Given the description of an element on the screen output the (x, y) to click on. 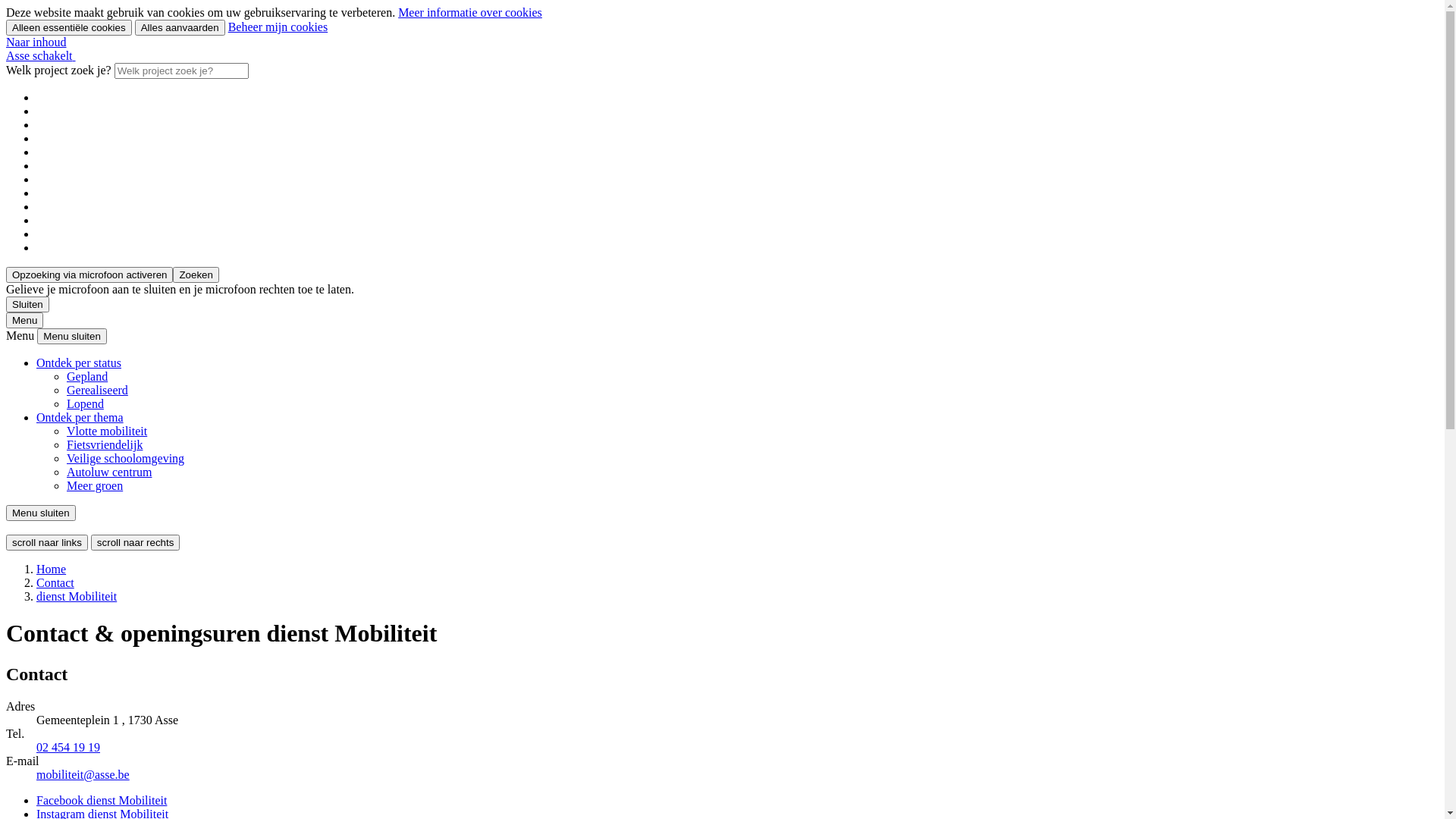
Opzoeking via microfoon activeren Element type: text (89, 274)
Facebook dienst Mobiliteit Element type: text (101, 799)
Beheer mijn cookies Element type: text (278, 26)
02 454 19 19 Element type: text (68, 746)
Autoluw centrum Element type: text (108, 471)
Meer informatie over cookies Element type: text (470, 12)
Contact Element type: text (55, 582)
Asse schakelt Element type: text (40, 55)
Meer groen Element type: text (94, 485)
Vlotte mobiliteit Element type: text (106, 430)
Menu sluiten Element type: text (71, 336)
Gerealiseerd Element type: text (97, 389)
Ontdek per thema Element type: text (79, 417)
Veilige schoolomgeving Element type: text (125, 457)
scroll naar links Element type: text (46, 542)
Menu Element type: text (24, 320)
Fietsvriendelijk Element type: text (104, 444)
Menu sluiten Element type: text (40, 512)
dienst Mobiliteit Element type: text (76, 595)
Gepland Element type: text (86, 376)
Naar inhoud Element type: text (36, 41)
Home Element type: text (50, 568)
Sluiten Element type: text (27, 304)
Zoeken Element type: text (195, 274)
Alles aanvaarden Element type: text (179, 27)
scroll naar rechts Element type: text (135, 542)
Ontdek per status Element type: text (78, 362)
Lopend Element type: text (84, 403)
mobiliteit@asse.be Element type: text (82, 774)
